Given the description of an element on the screen output the (x, y) to click on. 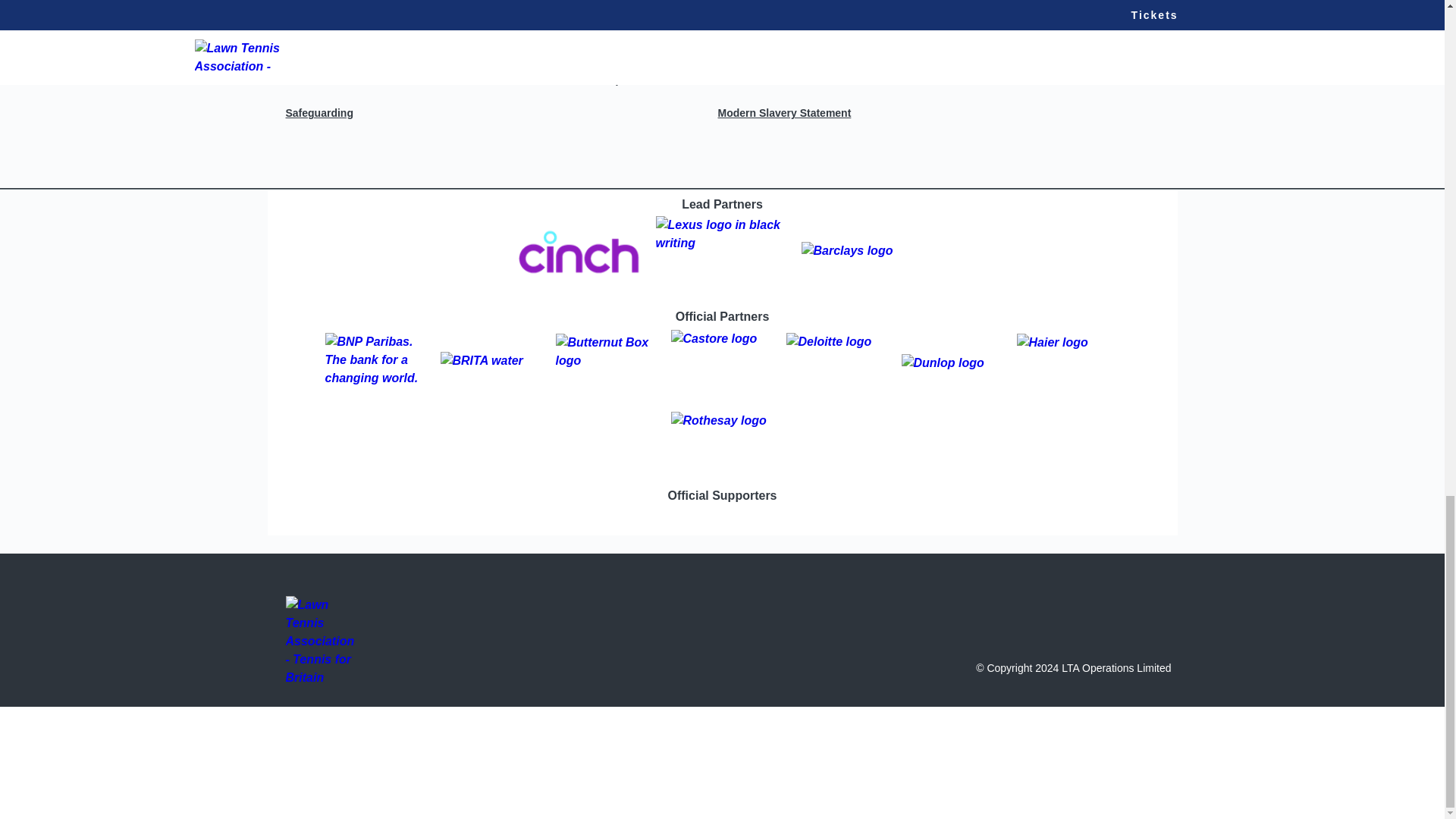
Butternut Box (605, 362)
LinkedIn (1090, 17)
Instagram (931, 17)
Facebook (891, 17)
BRITA (490, 362)
Lexus logo in black writing (721, 253)
BNP Paribas (375, 362)
LinkedIn (1090, 17)
YouTube (1010, 17)
TikTok (1050, 17)
